Given the description of an element on the screen output the (x, y) to click on. 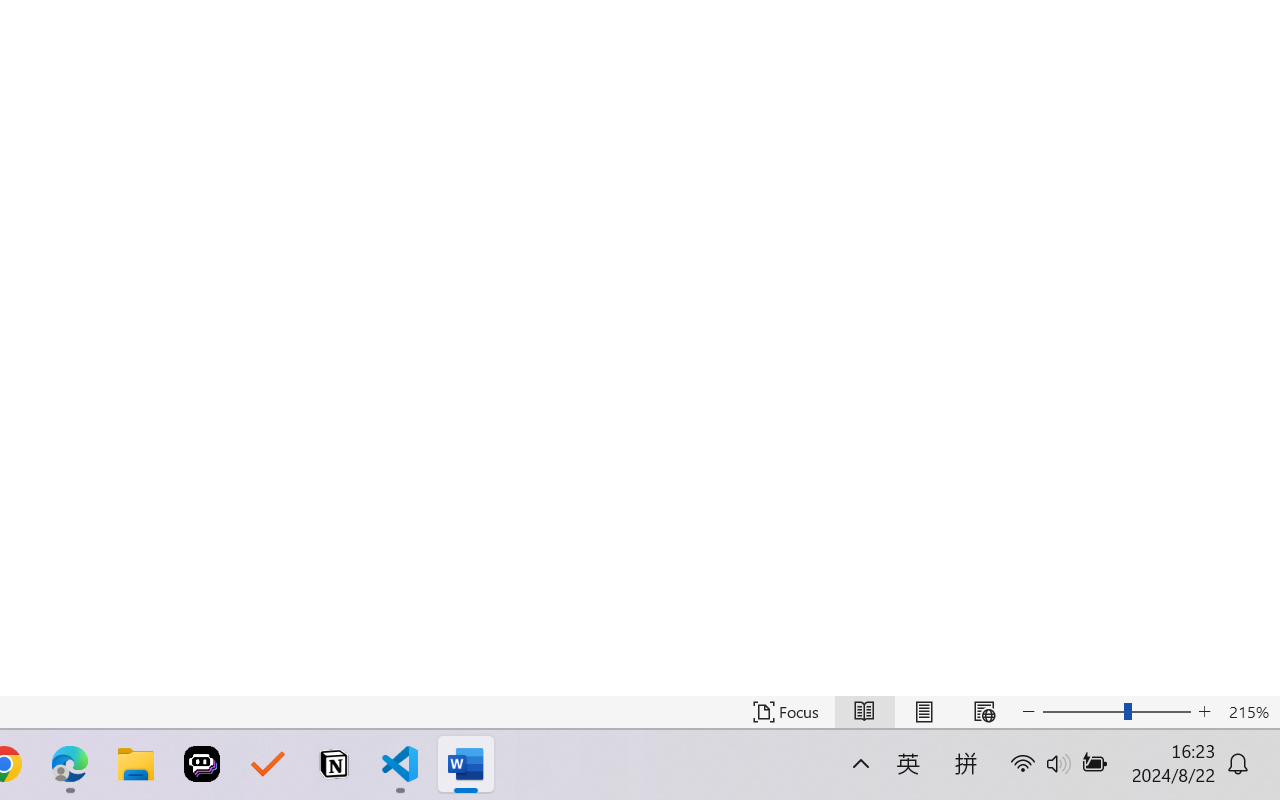
Text Size (1116, 712)
Increase Text Size (1204, 712)
Decrease Text Size (1028, 712)
